Given the description of an element on the screen output the (x, y) to click on. 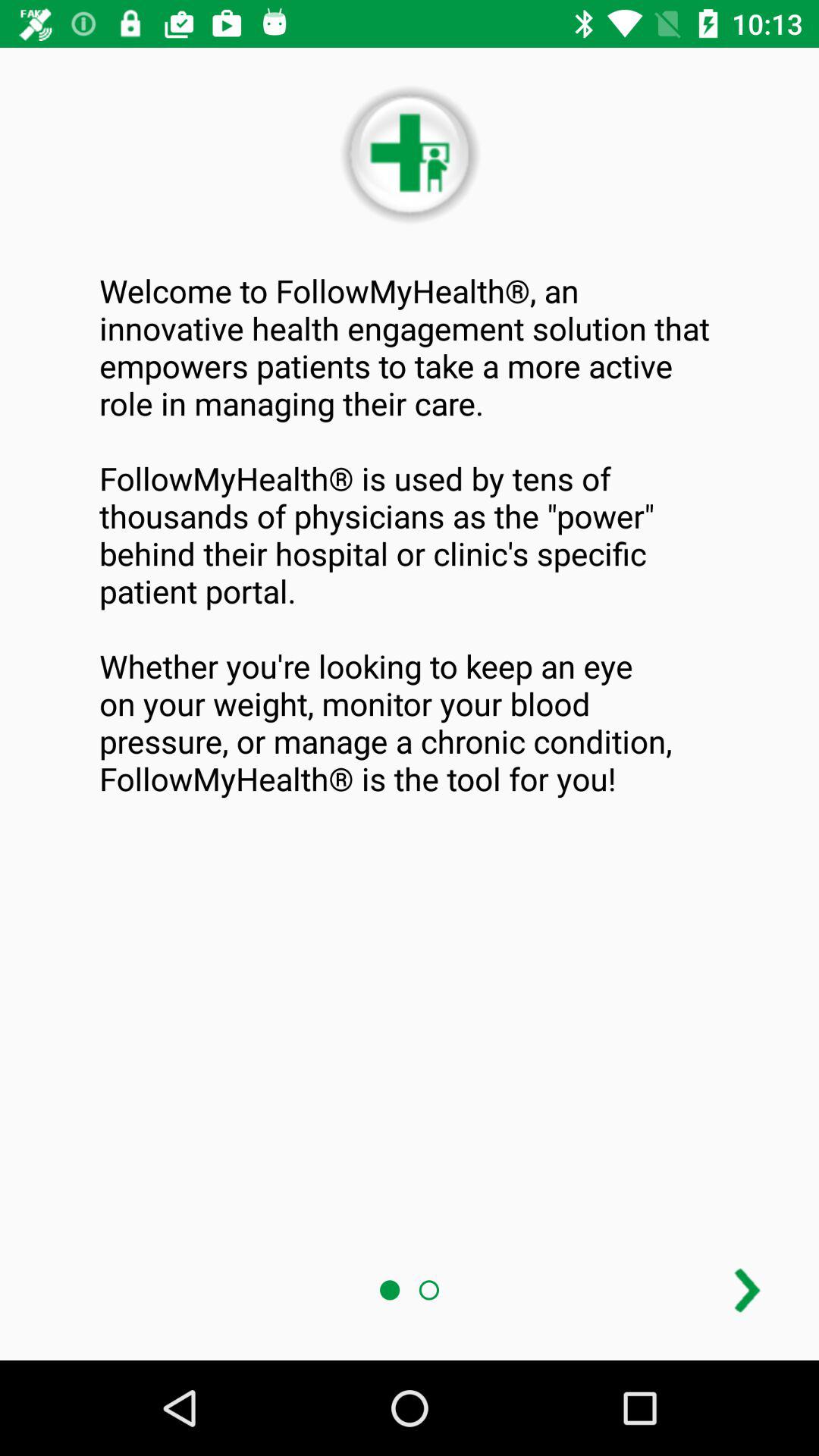
choose the welcome to followmyhealth item (409, 534)
